Given the description of an element on the screen output the (x, y) to click on. 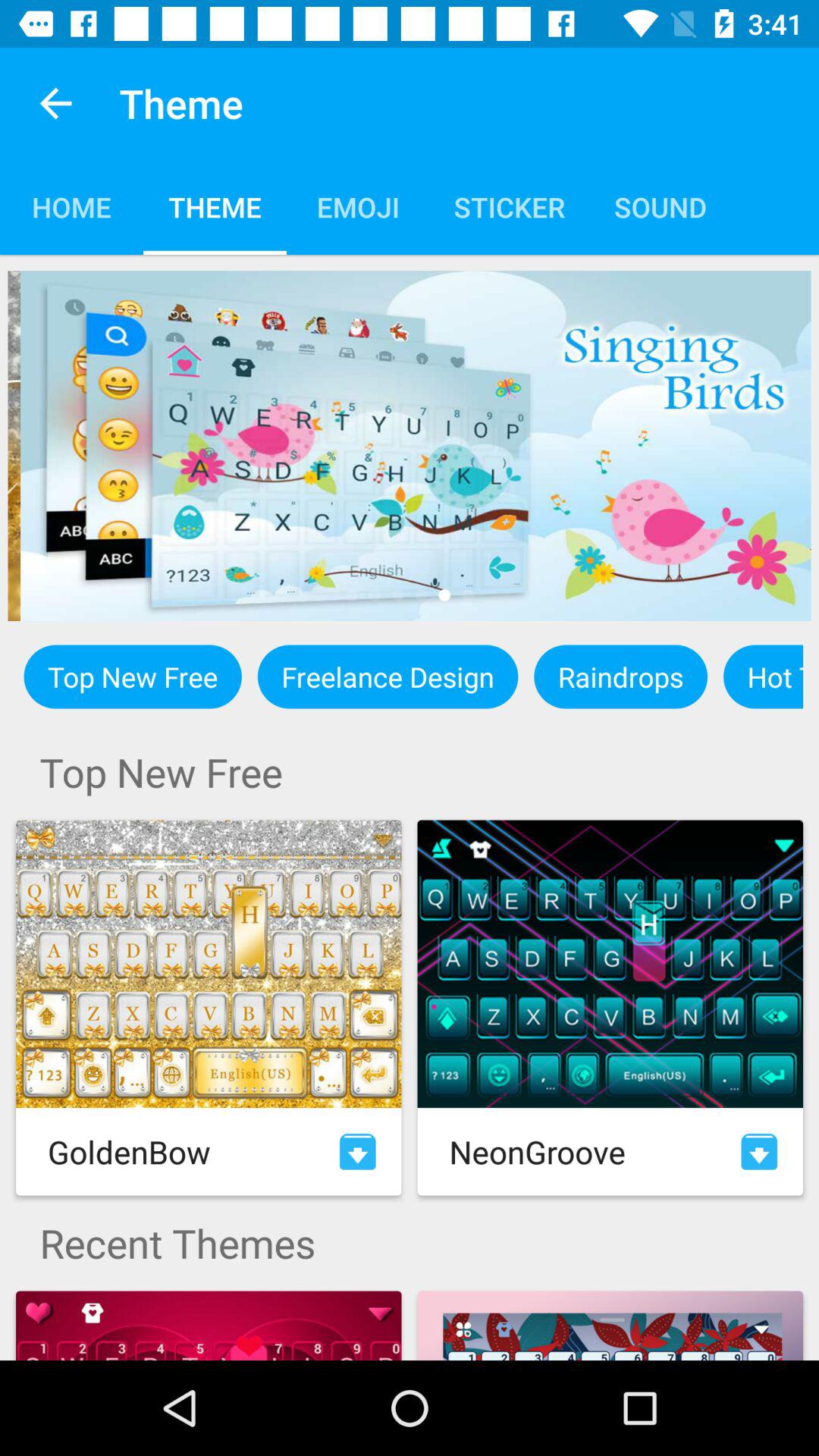
scroll to the freelance design item (387, 676)
